Given the description of an element on the screen output the (x, y) to click on. 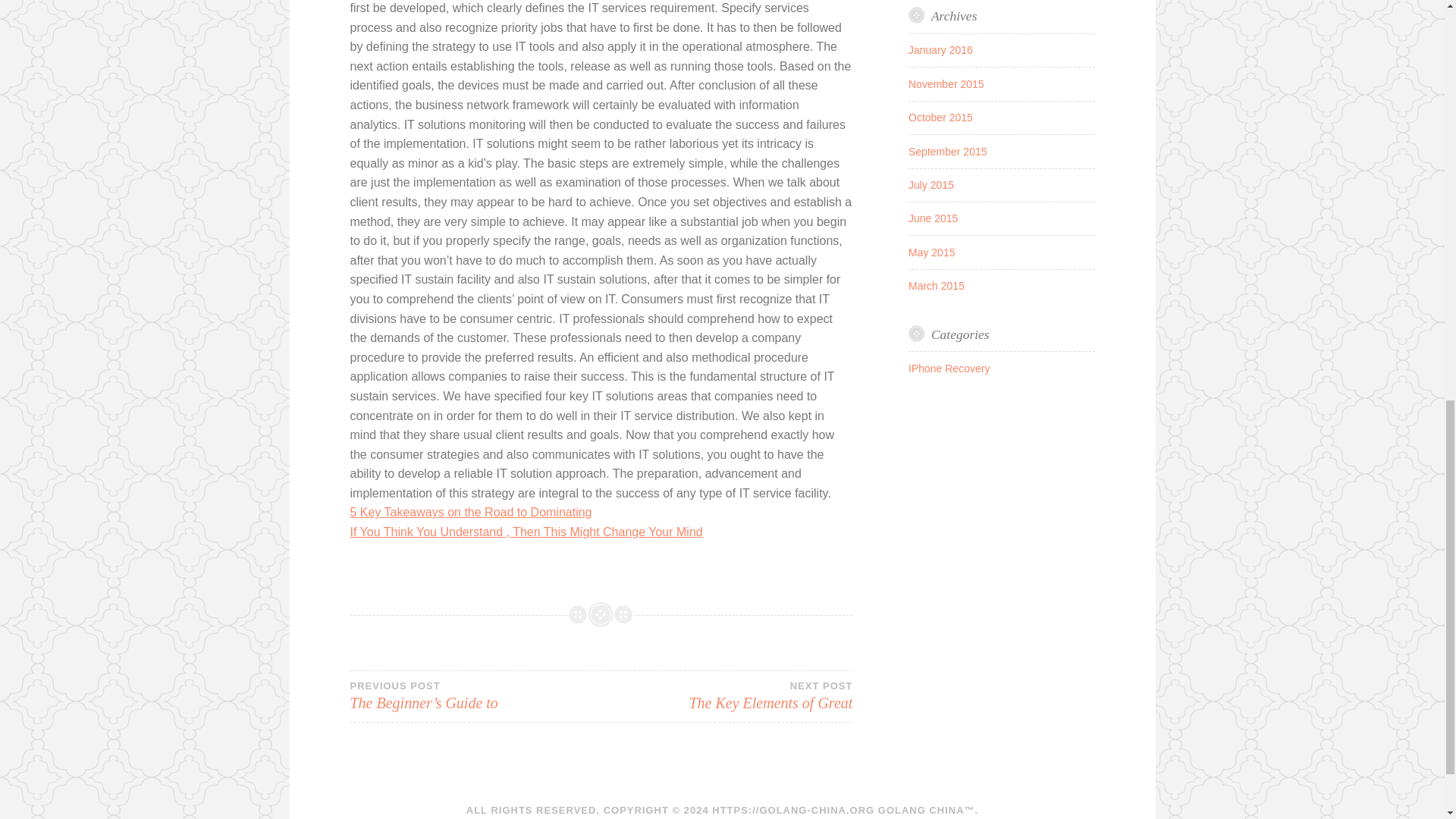
September 2015 (947, 151)
May 2015 (931, 252)
July 2015 (930, 184)
January 2016 (940, 50)
November 2015 (946, 83)
5 Key Takeaways on the Road to Dominating (471, 512)
March 2015 (935, 285)
IPhone Recovery (949, 368)
October 2015 (940, 117)
June 2015 (933, 218)
